Given the description of an element on the screen output the (x, y) to click on. 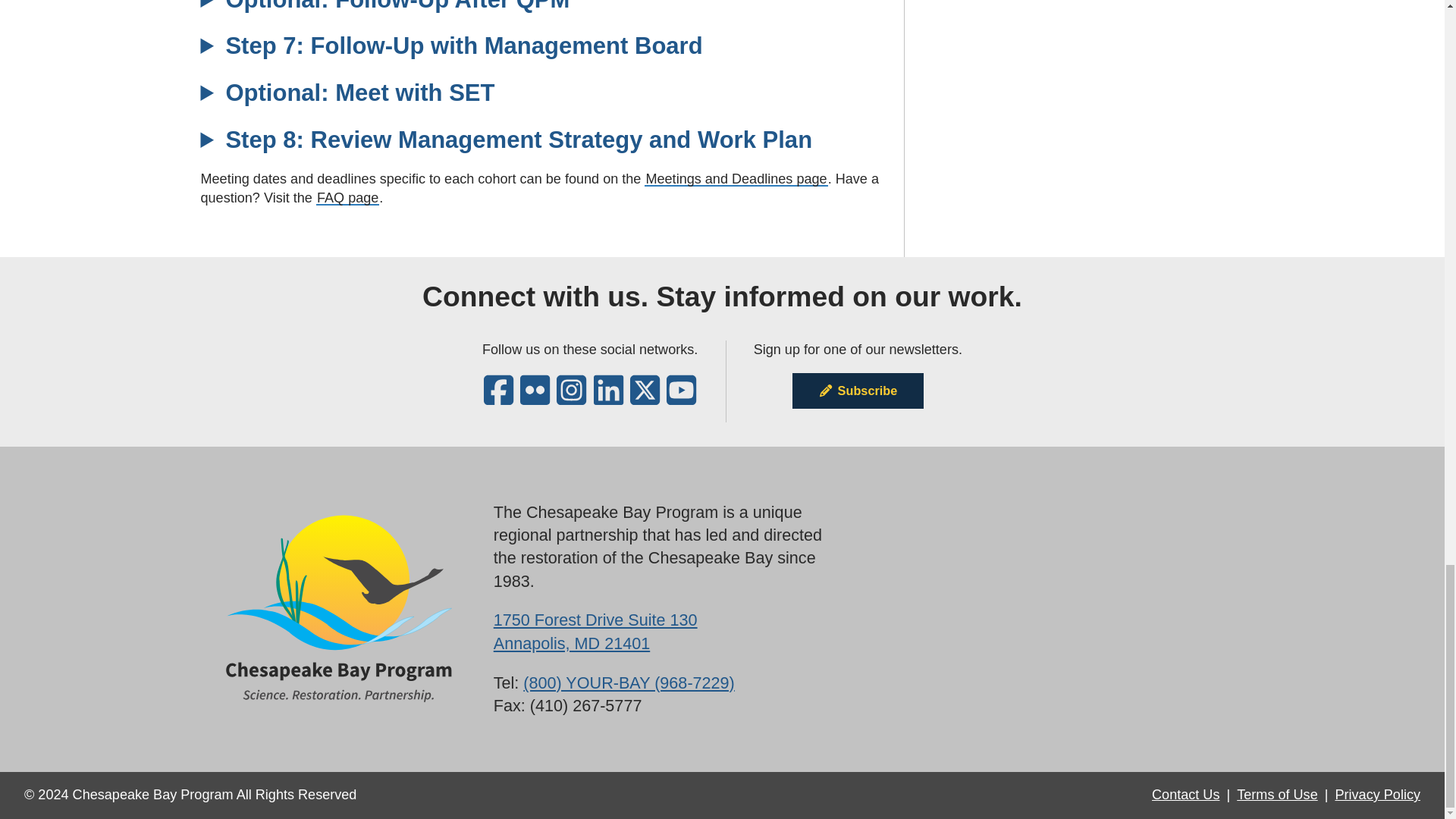
Visit us on Facebook (498, 398)
Meetings and Deadlines page (736, 178)
FAQ page (346, 197)
Follow us on X, formerly known as Twitter (644, 398)
Visit us on YouTube (680, 398)
Subscribe (857, 390)
Follow us on Instagram (571, 398)
View our photos on Flickr (534, 398)
Follow us on LinkedIn (608, 398)
